Given the description of an element on the screen output the (x, y) to click on. 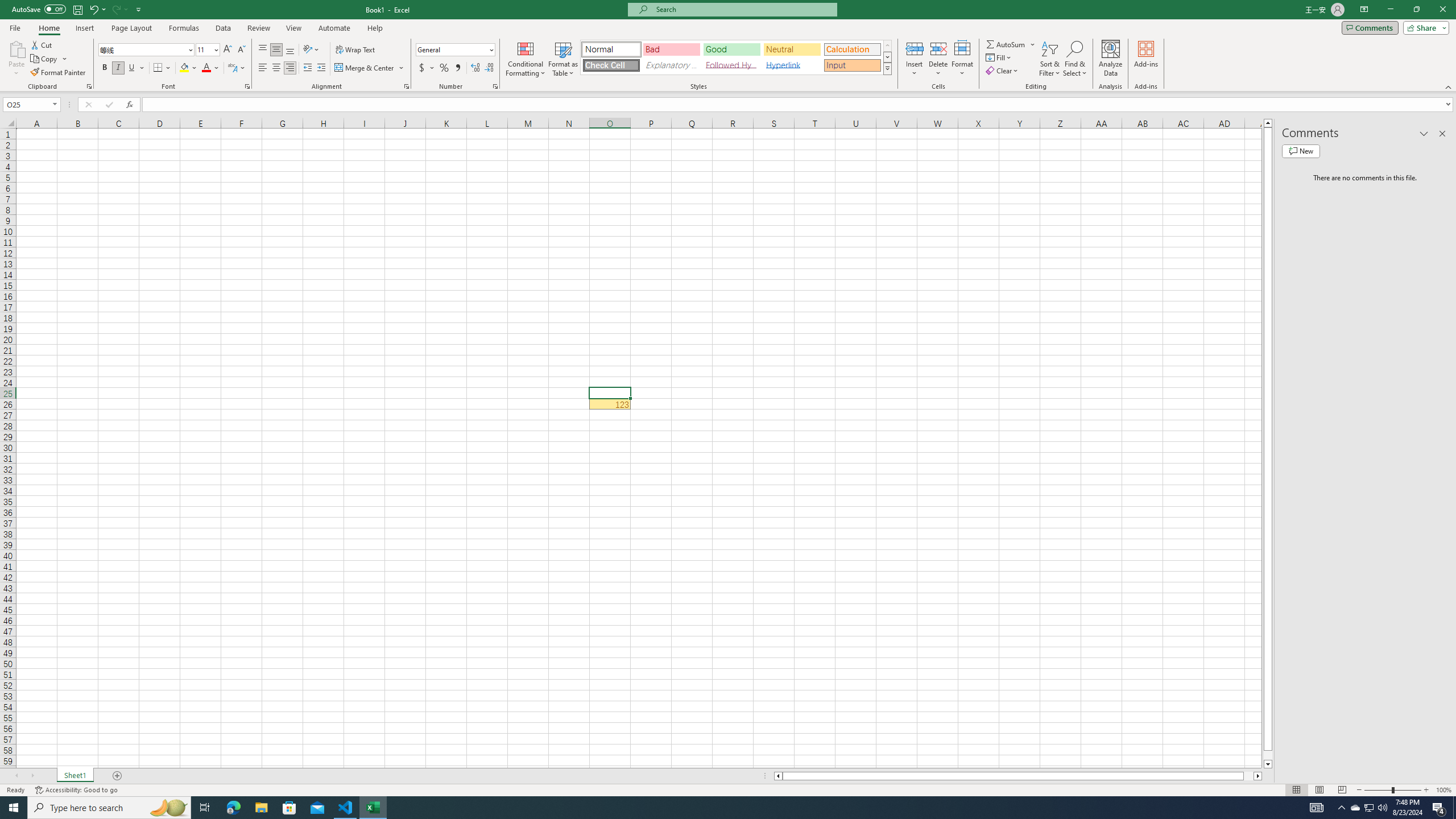
Percent Style (443, 67)
Cut (42, 44)
Bold (104, 67)
Analyze Data (1110, 58)
Neutral (791, 49)
Automate (334, 28)
